Given the description of an element on the screen output the (x, y) to click on. 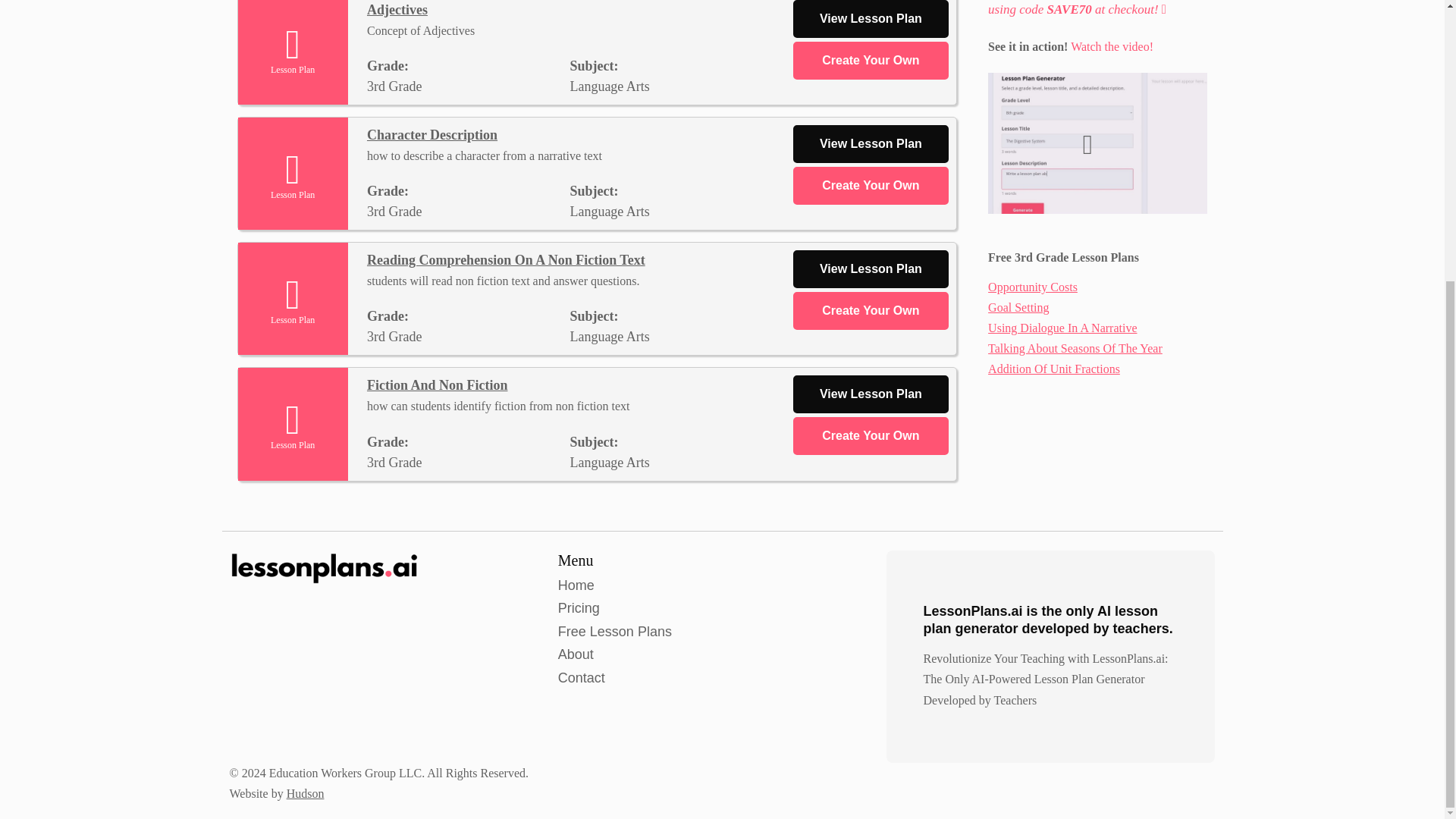
About (575, 654)
Opportunity Costs (1032, 286)
Using Dialogue In A Narrative (1062, 327)
Contact (581, 678)
View Lesson Plan (871, 18)
Character Description (431, 134)
View Lesson Plan (871, 143)
Contact (581, 678)
Create Your Own (871, 60)
Goal Setting (1018, 307)
Adjectives (397, 9)
Fiction And Non Fiction (437, 385)
About (575, 654)
Free Lesson Plans (614, 631)
Create Your Own (871, 185)
